Given the description of an element on the screen output the (x, y) to click on. 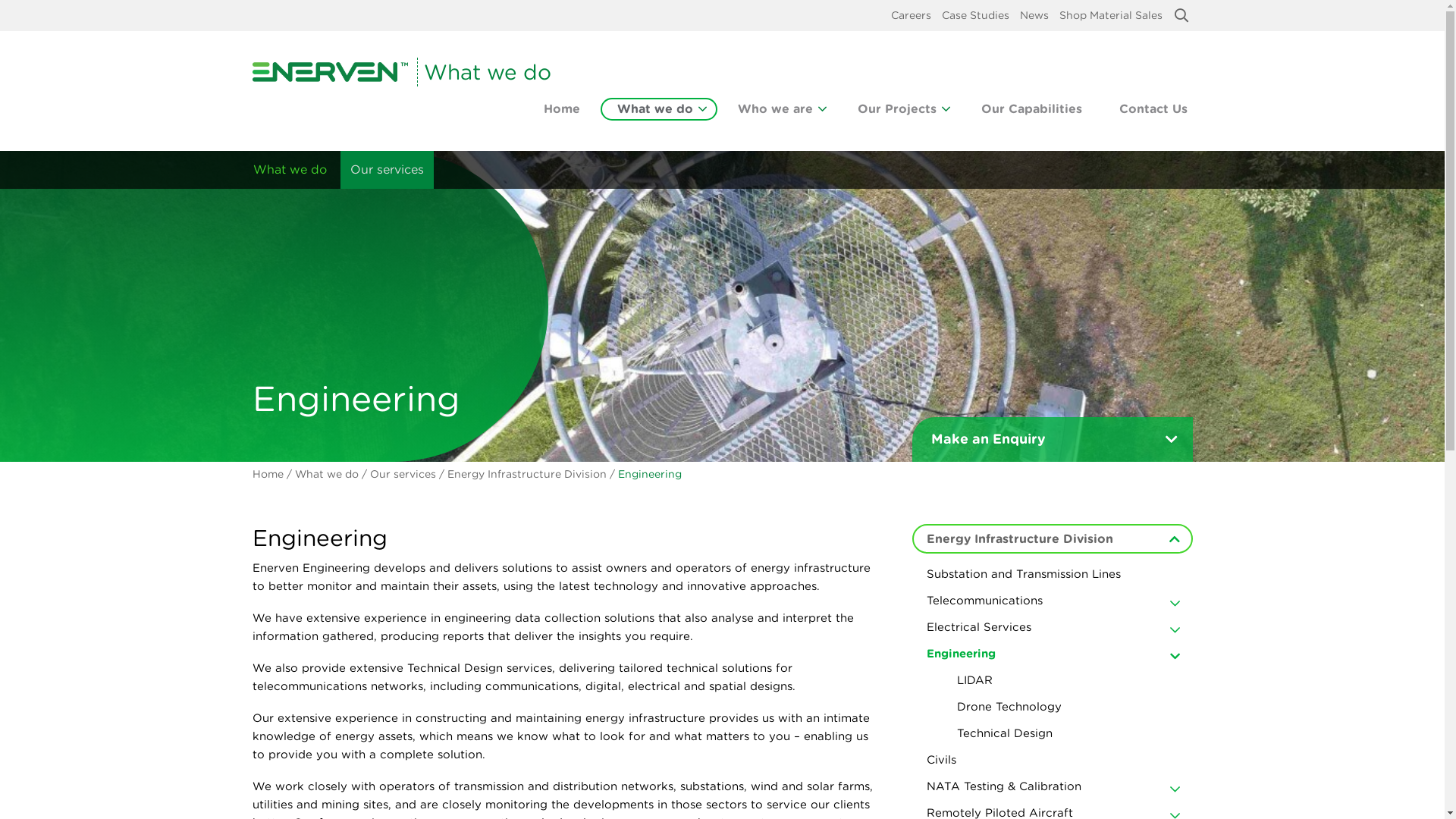
News Element type: text (1033, 15)
Who we are Element type: text (778, 108)
Energy Infrastructure Division Element type: text (1051, 538)
Substation and Transmission Lines Element type: text (1051, 574)
Home Element type: text (266, 473)
Search Element type: hover (1180, 15)
Home Element type: text (561, 108)
Our services Element type: text (403, 473)
Drone Technology Element type: text (1066, 706)
What we do Element type: text (658, 108)
Our Projects Element type: text (900, 108)
What we do Element type: text (327, 473)
Energy Infrastructure Division Element type: text (526, 473)
Telecommunications Element type: text (1051, 600)
NATA Testing & Calibration Element type: text (1051, 786)
Our Capabilities Element type: text (1031, 108)
Contact Us Element type: text (1153, 108)
Engineering Element type: text (1051, 653)
Electrical Services Element type: text (1051, 627)
Our services Element type: text (386, 169)
Case Studies Element type: text (975, 15)
Civils Element type: text (1051, 759)
Shop Material Sales Element type: text (1109, 15)
What we do Element type: text (288, 169)
Careers Element type: text (910, 15)
LIDAR Element type: text (1066, 680)
Technical Design Element type: text (1066, 733)
